Given the description of an element on the screen output the (x, y) to click on. 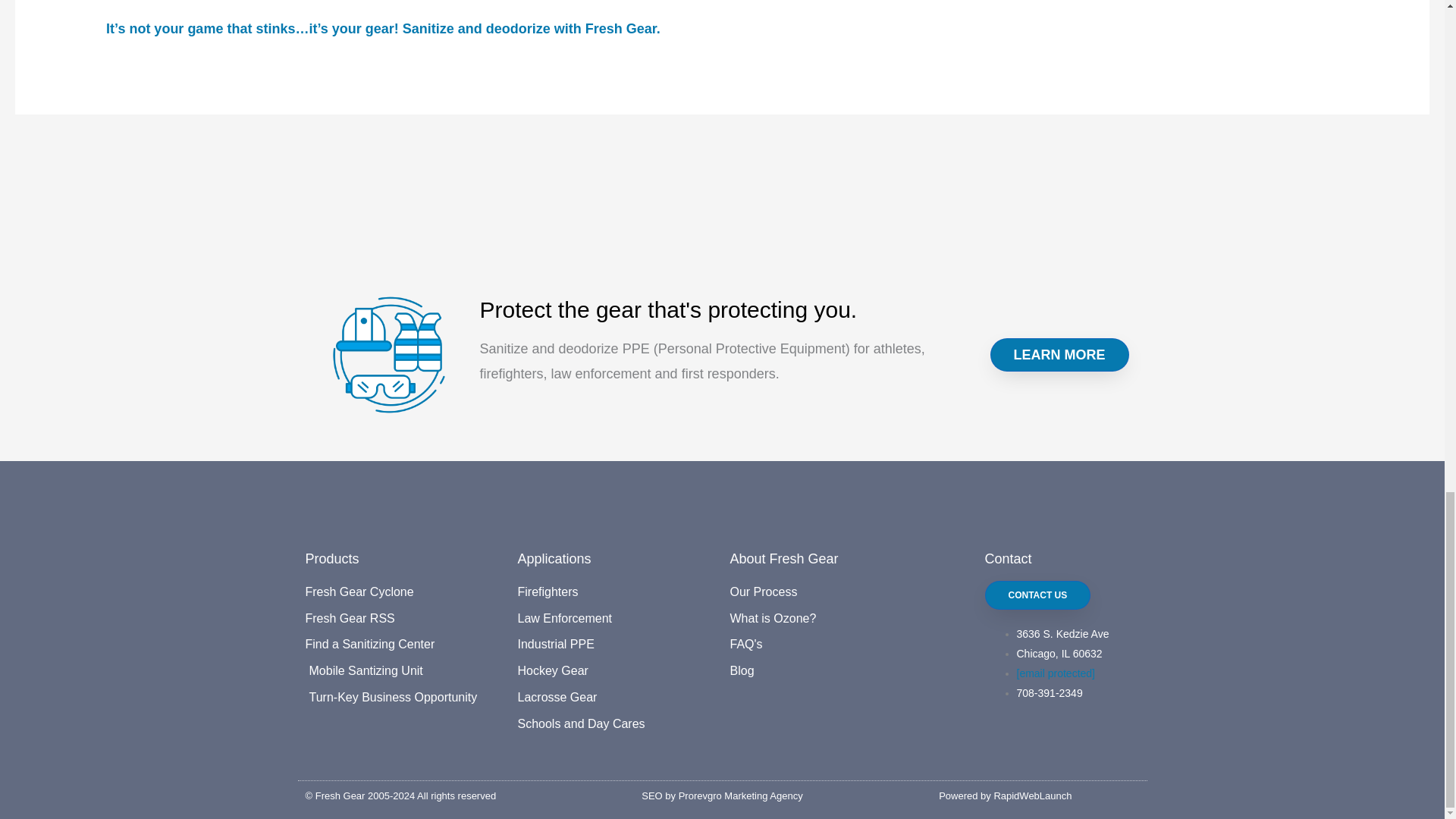
Fresh Gear RSS (403, 618)
About Fresh Gear (783, 558)
Our Process (827, 591)
Hockey Gear (615, 671)
Firefighters (615, 591)
What is Ozone? (827, 618)
Blog (827, 671)
Law Enforcement (615, 618)
FAQ's (827, 644)
LEARN MORE (1059, 354)
